Given the description of an element on the screen output the (x, y) to click on. 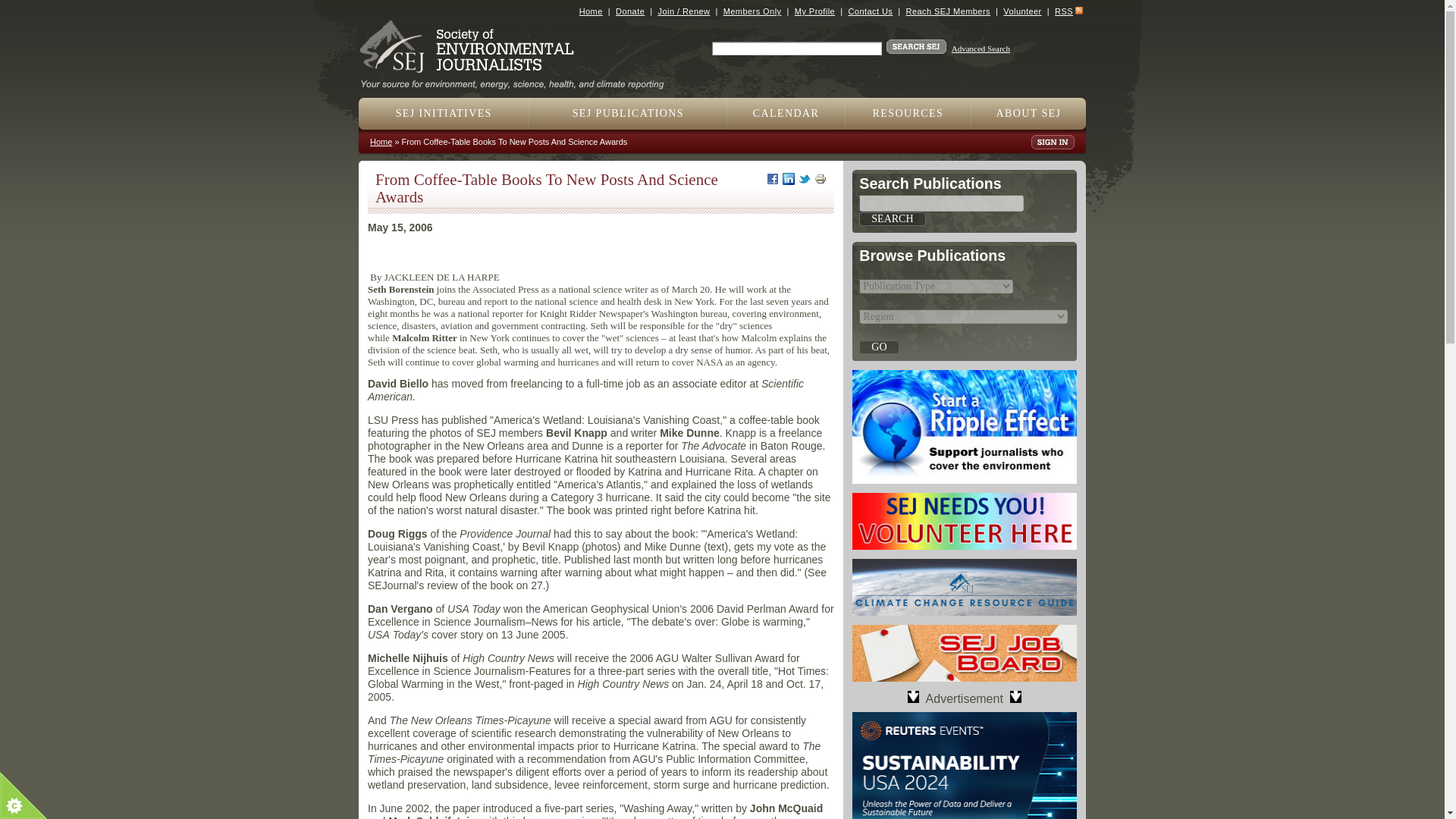
Contact Us (869, 10)
Search (891, 219)
SEJ INITIATIVES (443, 113)
Go (878, 346)
Volunteer (1022, 10)
Enter the terms you wish to search for. (796, 48)
RSS (1063, 10)
Members Only (752, 10)
My Profile (814, 10)
SEJ PUBLICATIONS (627, 113)
Reach SEJ Members (947, 10)
Home (518, 79)
Home (590, 10)
Advanced Search (981, 48)
Donate (630, 10)
